Given the description of an element on the screen output the (x, y) to click on. 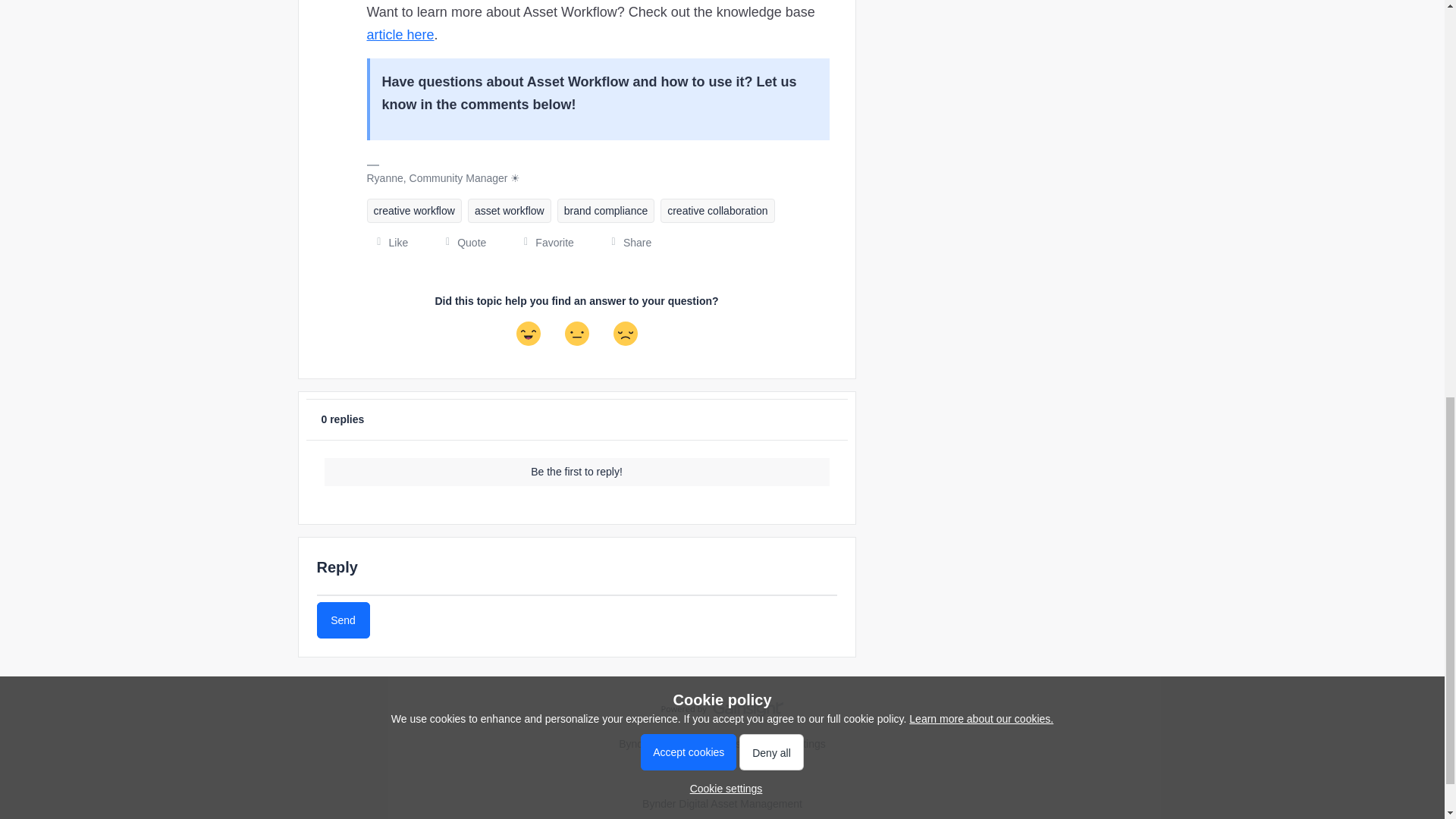
creative collaboration (717, 210)
article here (399, 34)
creative workflow (413, 210)
Visit Gainsight.com (722, 712)
Quote (460, 242)
asset workflow (509, 210)
brand compliance (606, 210)
Like (387, 242)
